Given the description of an element on the screen output the (x, y) to click on. 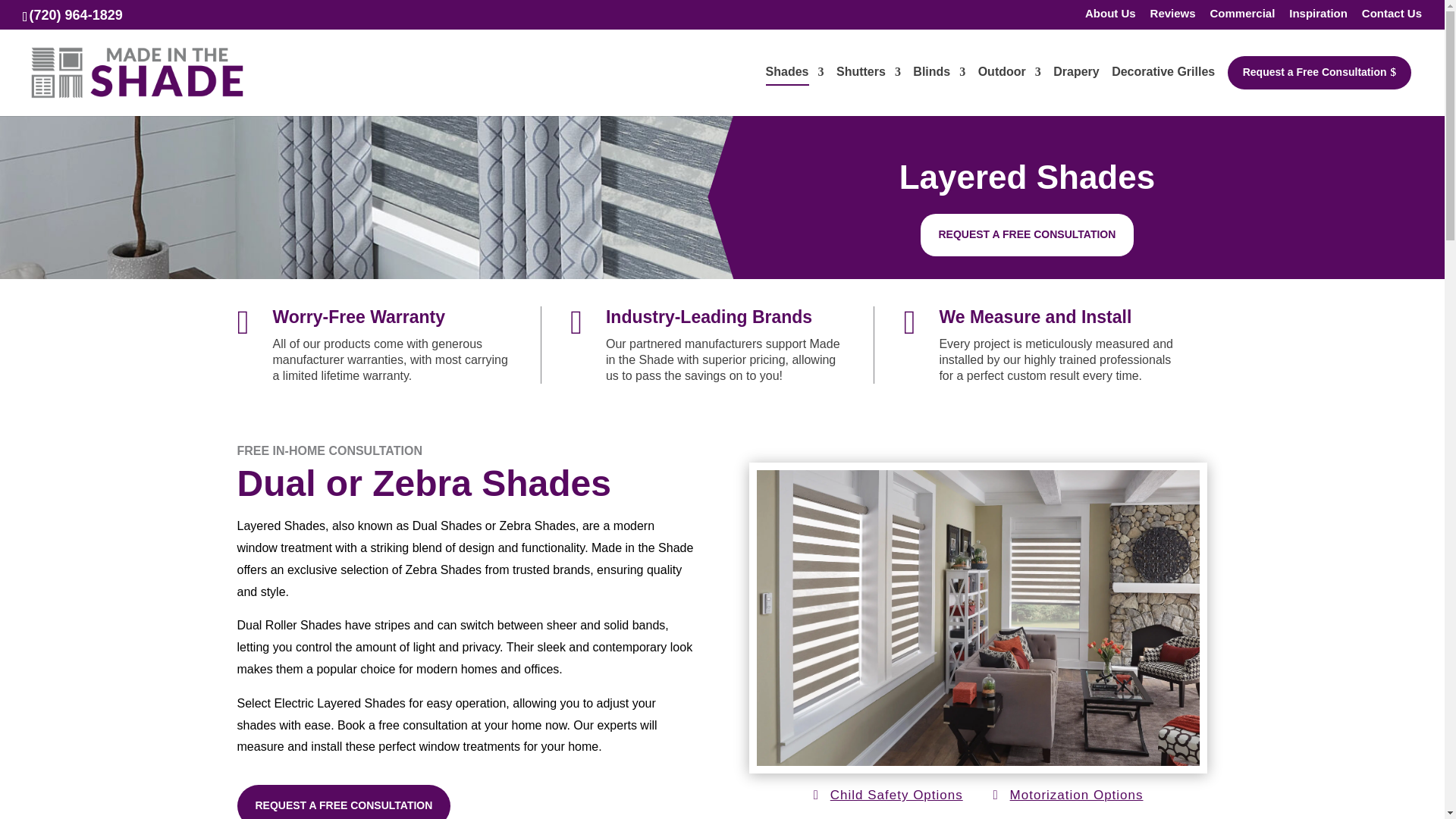
Reviews (1172, 16)
Commercial (1242, 16)
Drapery (1075, 88)
Inspiration (1318, 16)
About Us (1109, 16)
Window Blinds (938, 88)
Shutters (868, 88)
Layered-Shades-Living-Room (978, 761)
Outdoor Window Shades (1009, 88)
Blinds (938, 88)
Decorative Grilles (1163, 88)
Outdoor (1009, 88)
Shades (794, 88)
Contact Us (1391, 16)
Commercial Window Treatments (1242, 16)
